Given the description of an element on the screen output the (x, y) to click on. 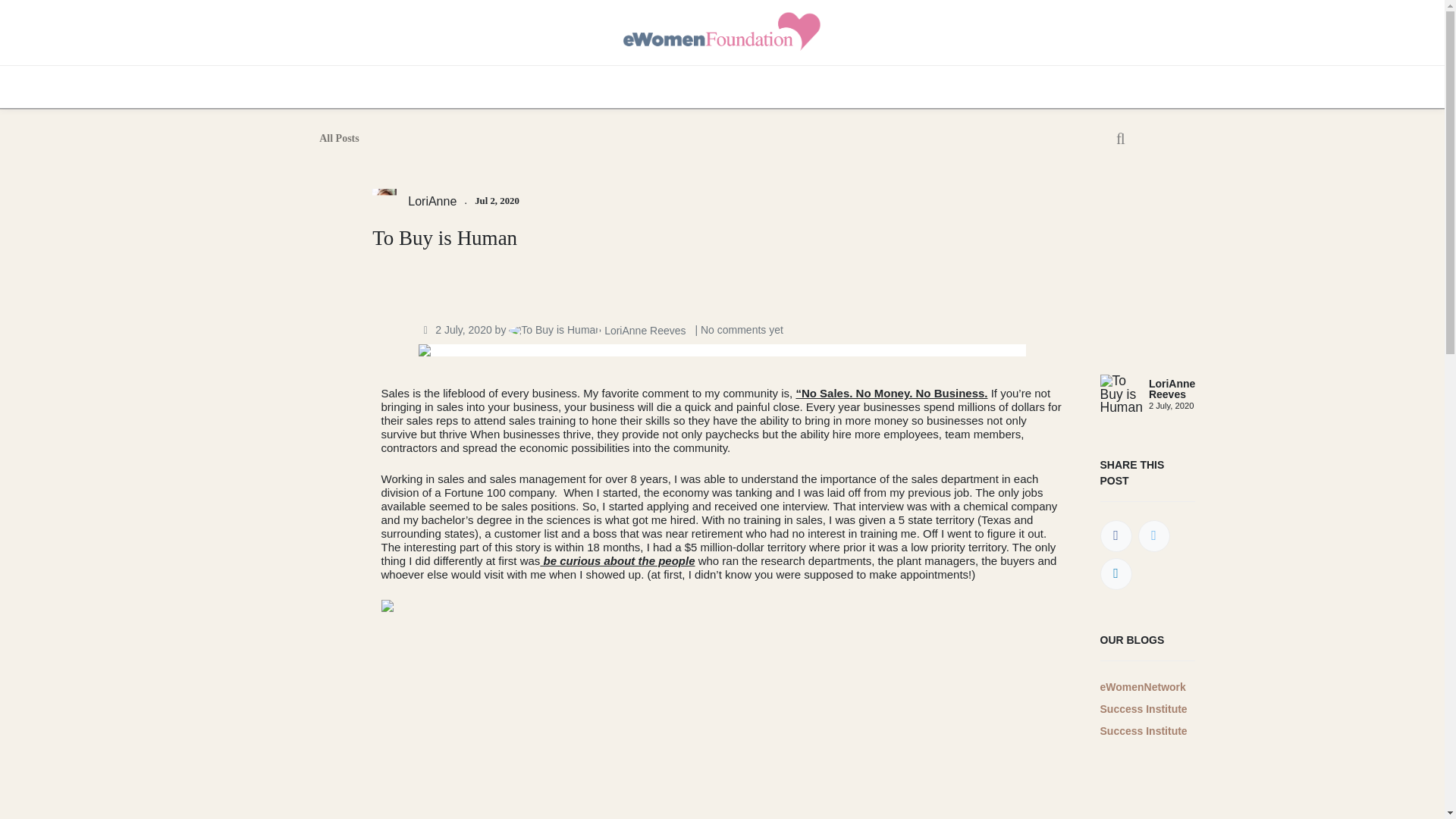
Share on Facebook (1115, 536)
eWomenNetwork Foundation (721, 31)
Share on LinkedIn (1115, 573)
To Buy is Human (721, 248)
Share on Twitter (1153, 536)
